Given the description of an element on the screen output the (x, y) to click on. 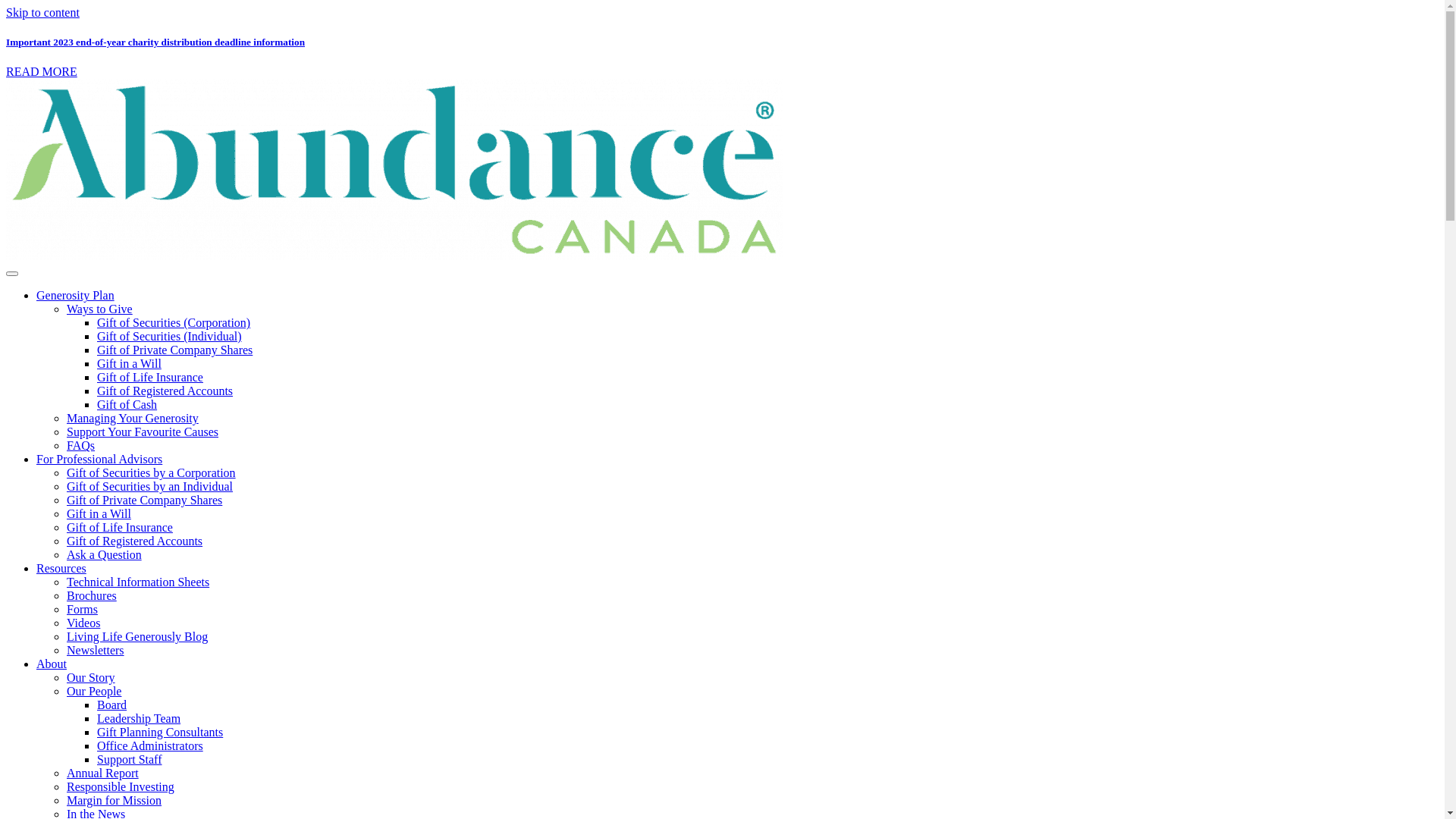
Managing Your Generosity Element type: text (132, 417)
Forms Element type: text (81, 608)
Gift of Securities (Corporation) Element type: text (173, 322)
Responsible Investing Element type: text (120, 786)
Support Your Favourite Causes Element type: text (142, 431)
Gift of Securities (Individual) Element type: text (169, 335)
Resources Element type: text (61, 567)
Videos Element type: text (83, 622)
Gift of Registered Accounts Element type: text (134, 540)
Gift of Life Insurance Element type: text (119, 526)
Technical Information Sheets Element type: text (137, 581)
FAQs Element type: text (80, 445)
Gift in a Will Element type: text (98, 513)
For Professional Advisors Element type: text (99, 458)
Our Story Element type: text (90, 677)
Gift of Cash Element type: text (126, 404)
Gift Planning Consultants Element type: text (159, 731)
Ways to Give Element type: text (99, 308)
Newsletters Element type: text (95, 649)
Office Administrators Element type: text (150, 745)
Generosity Plan Element type: text (75, 294)
Leadership Team Element type: text (138, 718)
Gift in a Will Element type: text (129, 363)
Ask a Question Element type: text (103, 554)
Gift of Life Insurance Element type: text (150, 376)
Our People Element type: text (93, 690)
Gift of Registered Accounts Element type: text (164, 390)
Support Staff Element type: text (129, 759)
Margin for Mission Element type: text (113, 799)
AbCa logo rgb 1200px Element type: hover (394, 169)
Brochures Element type: text (91, 595)
Gift of Securities by a Corporation Element type: text (150, 472)
Board Element type: text (111, 704)
Gift of Private Company Shares Element type: text (144, 499)
Living Life Generously Blog Element type: text (136, 636)
Gift of Private Company Shares Element type: text (174, 349)
Gift of Securities by an Individual Element type: text (149, 486)
Annual Report Element type: text (102, 772)
About Element type: text (51, 663)
READ MORE Element type: text (41, 71)
Skip to content Element type: text (42, 12)
